Given the description of an element on the screen output the (x, y) to click on. 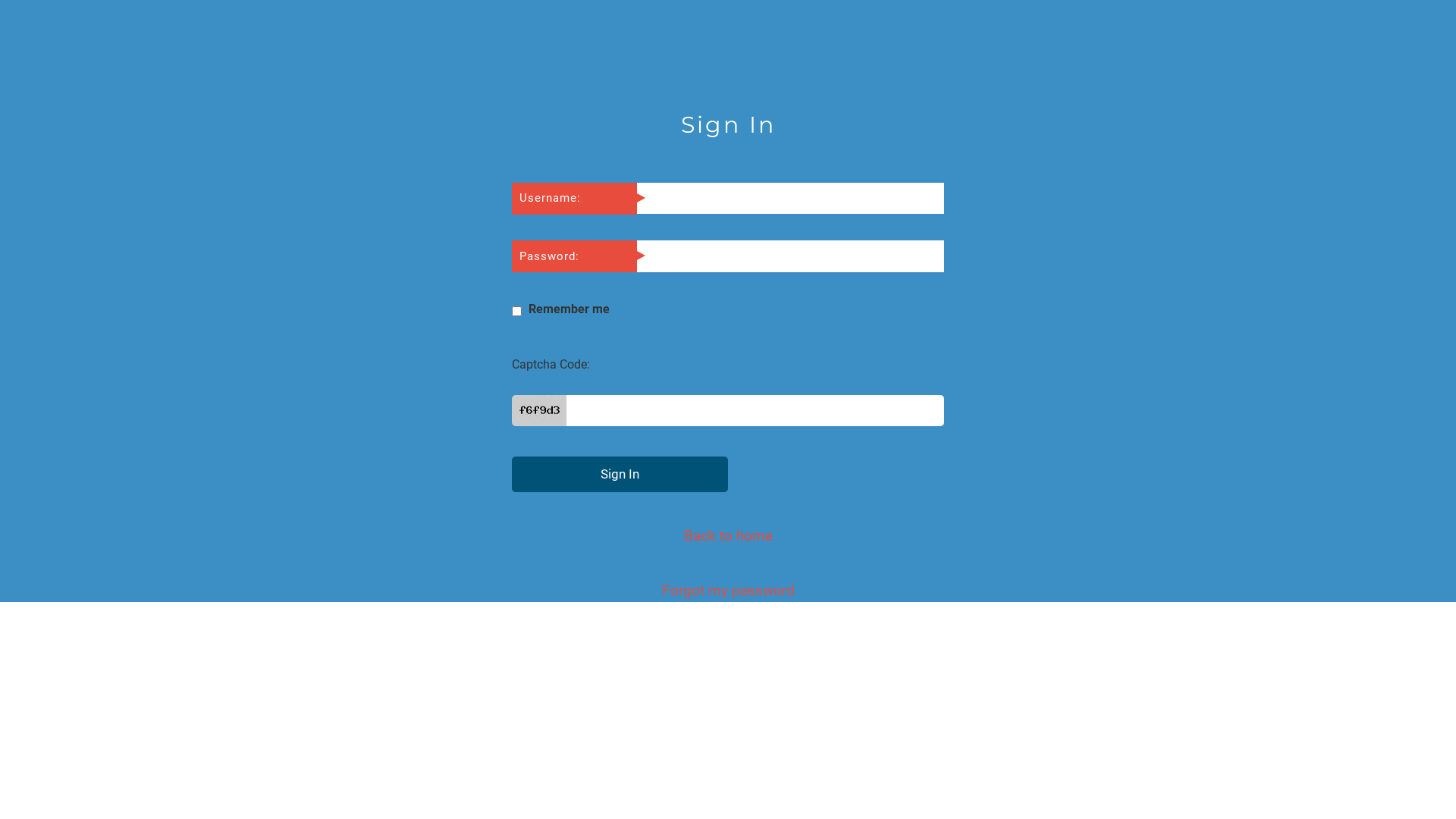
Password: Element type: text (574, 256)
Back to home Element type: text (727, 533)
Sign In Element type: text (619, 473)
Forgot my password Element type: text (727, 587)
